Given the description of an element on the screen output the (x, y) to click on. 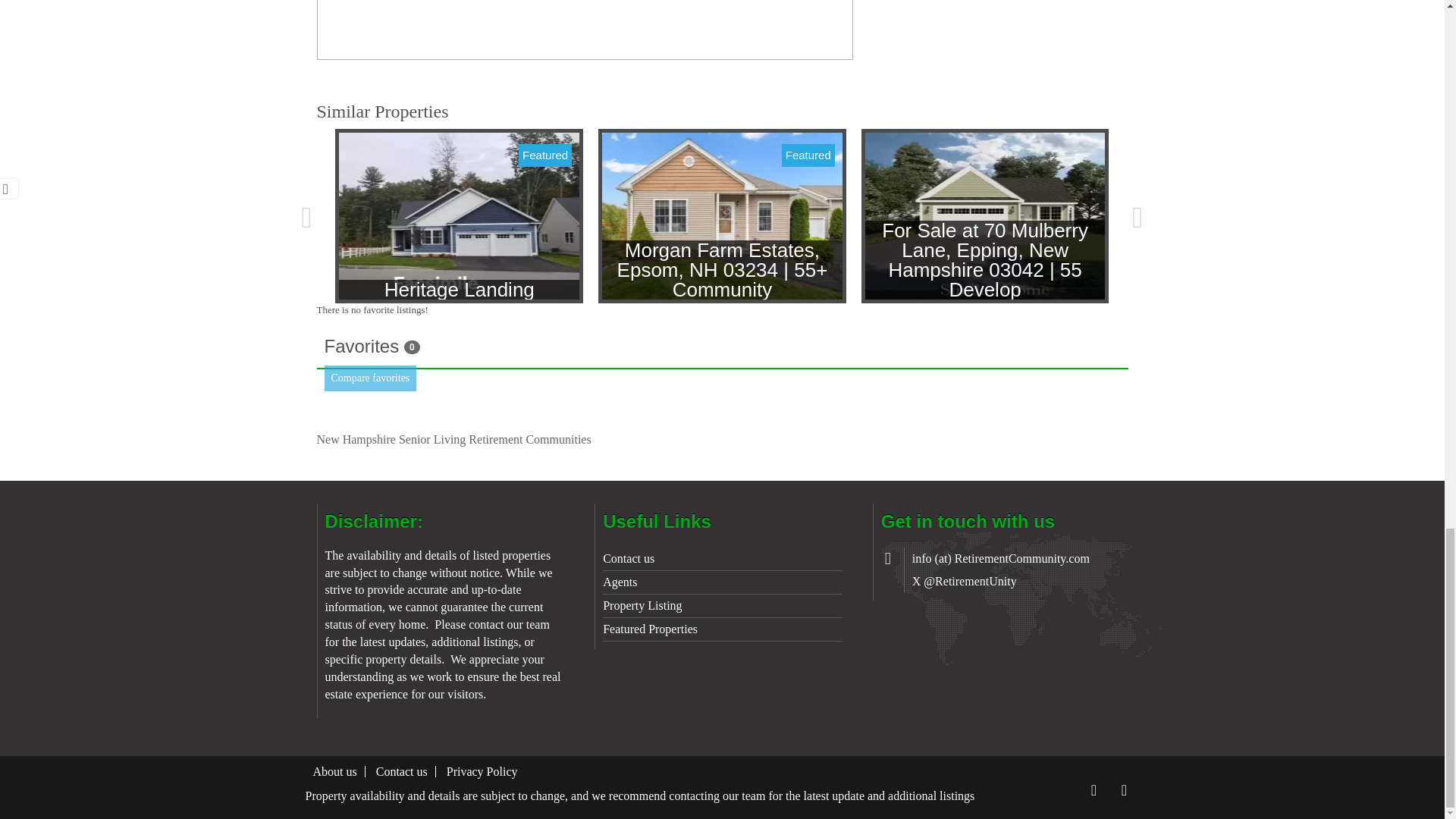
Heritage Landing  (459, 215)
